Given the description of an element on the screen output the (x, y) to click on. 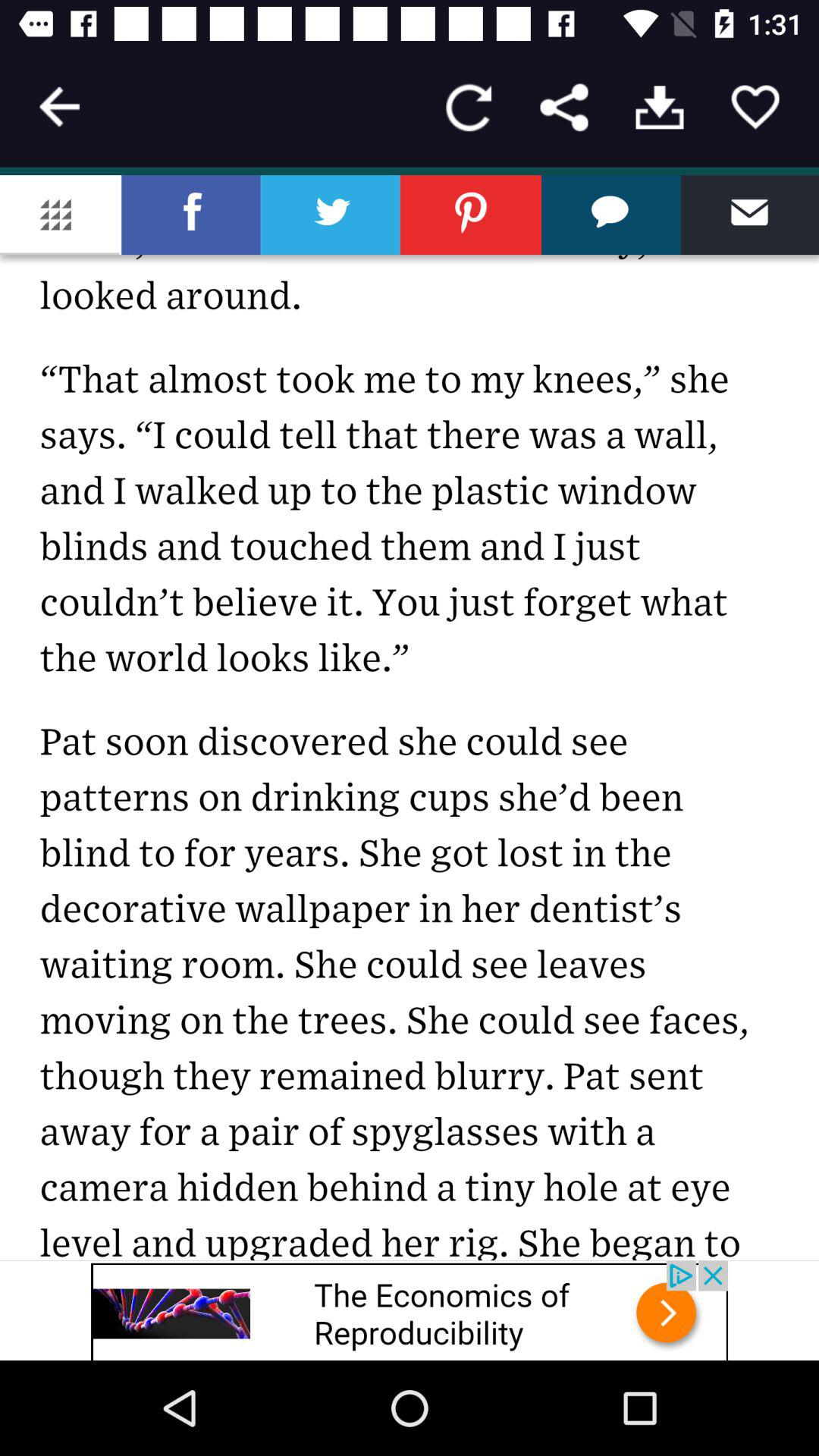
backward (59, 106)
